Given the description of an element on the screen output the (x, y) to click on. 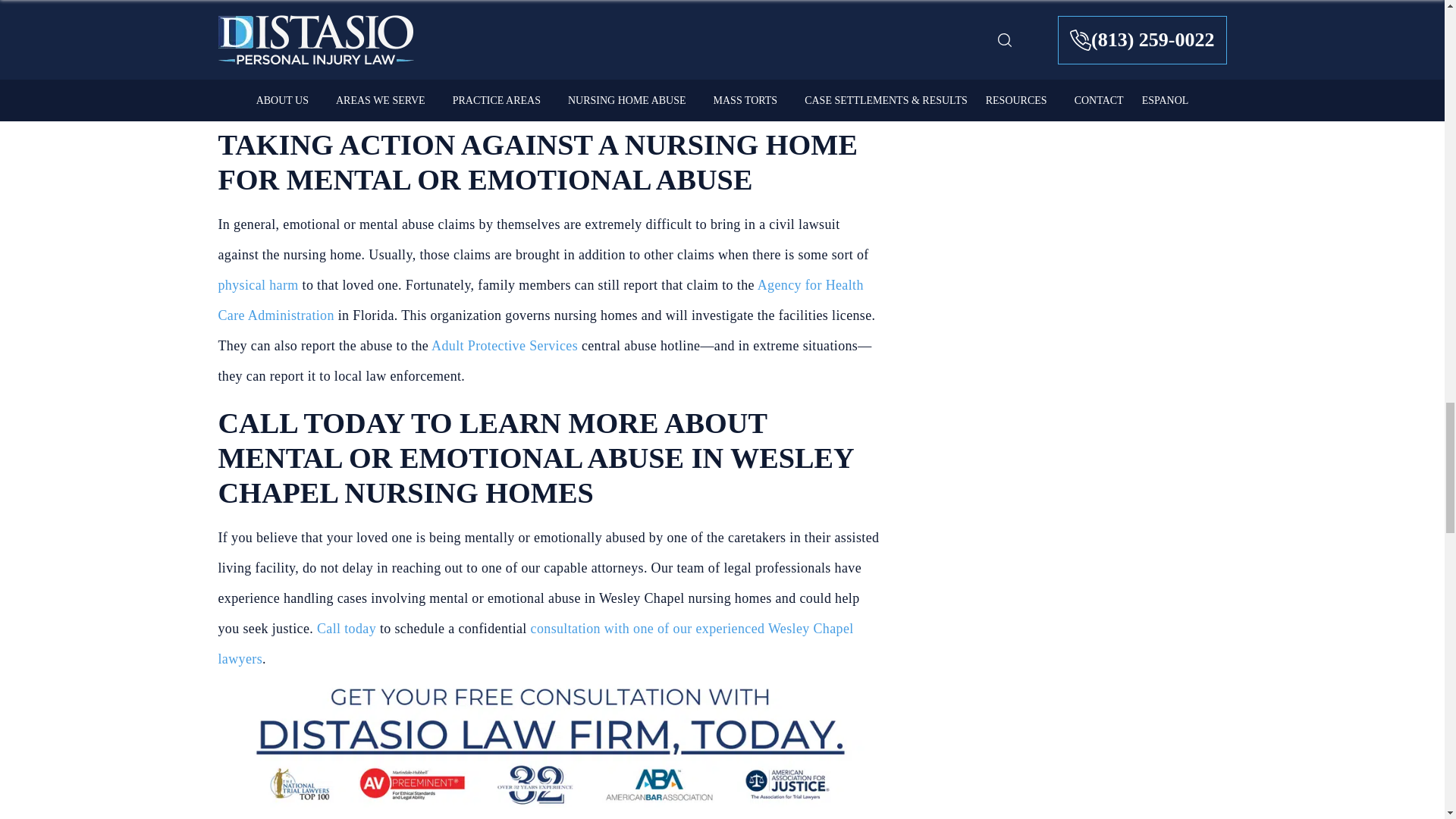
Mental or Emotional Abuse in Wesley Chapel Nursing Homes 2 (550, 742)
